Given the description of an element on the screen output the (x, y) to click on. 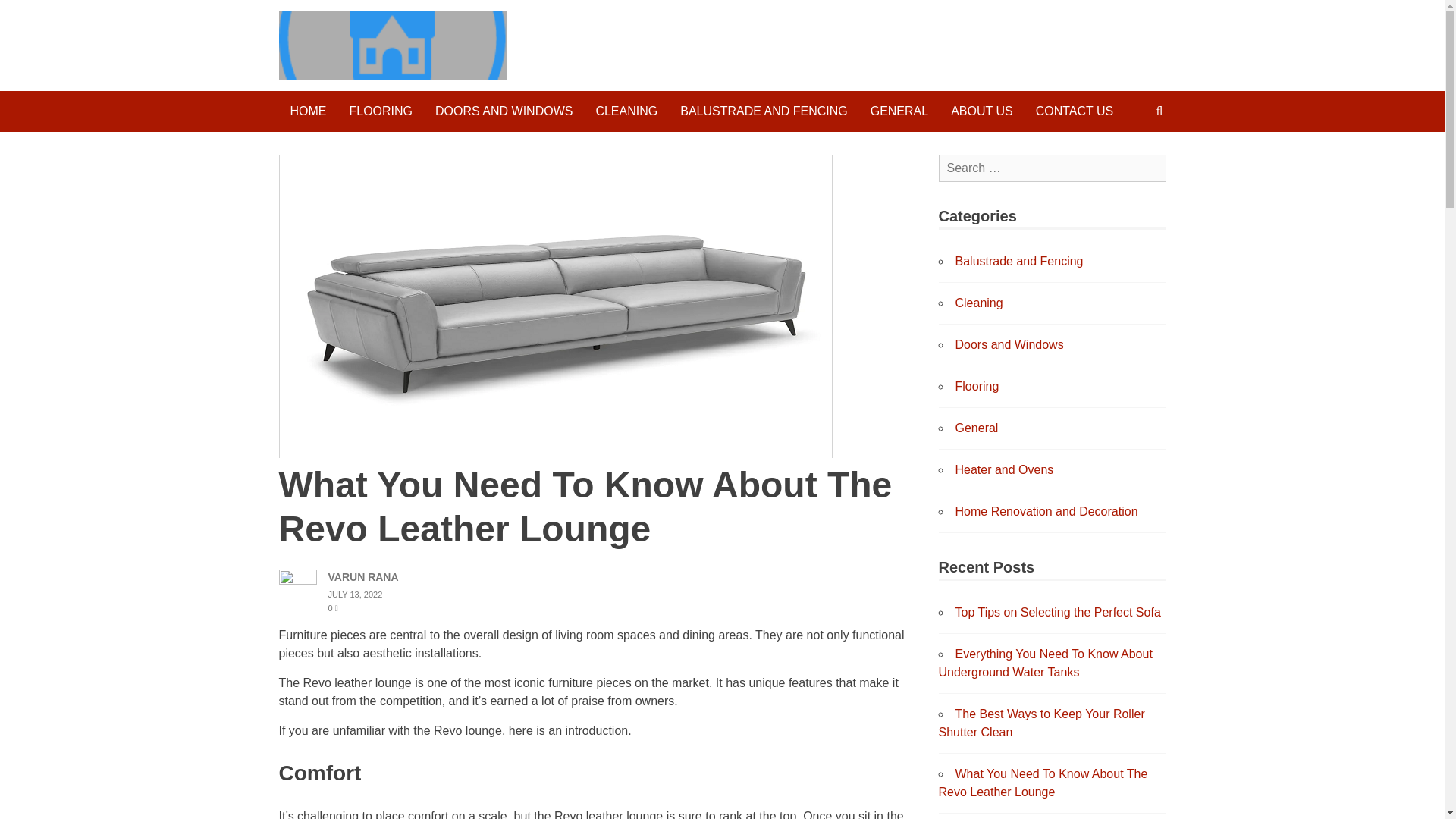
VARUN RANA (362, 576)
Top Tips on Selecting the Perfect Sofa (1057, 612)
Home Renovation and Decoration (1046, 511)
GENERAL (899, 110)
ABOUT US (982, 110)
Balustrade and Fencing (1019, 260)
0 (332, 607)
General (976, 427)
Cleaning (979, 302)
CLEANING (625, 110)
CONTACT US (1075, 110)
FLOORING (381, 110)
Doors and Windows (1009, 344)
JULY 13, 2022 (354, 593)
